Given the description of an element on the screen output the (x, y) to click on. 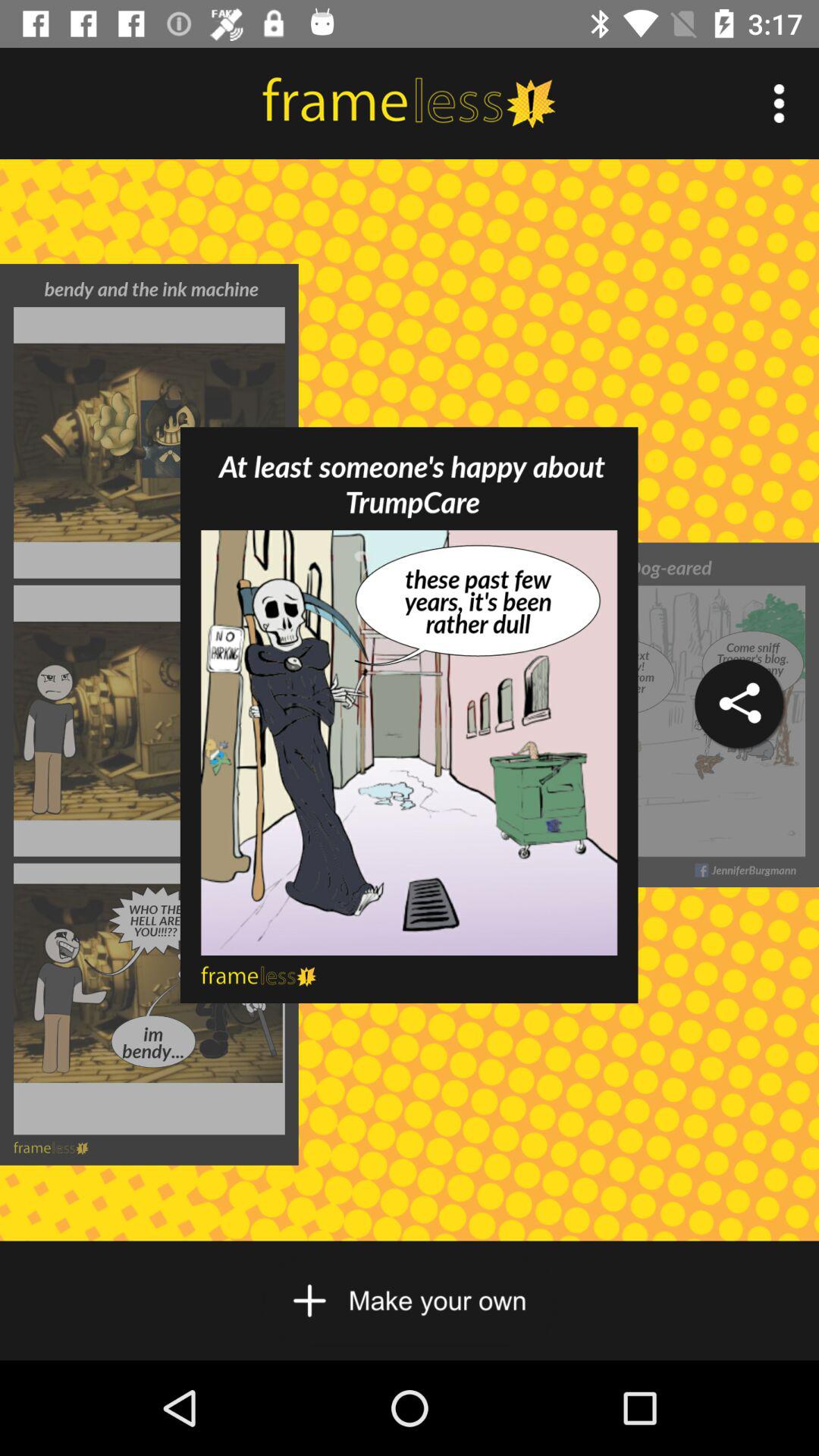
go to create new option (409, 1300)
